Given the description of an element on the screen output the (x, y) to click on. 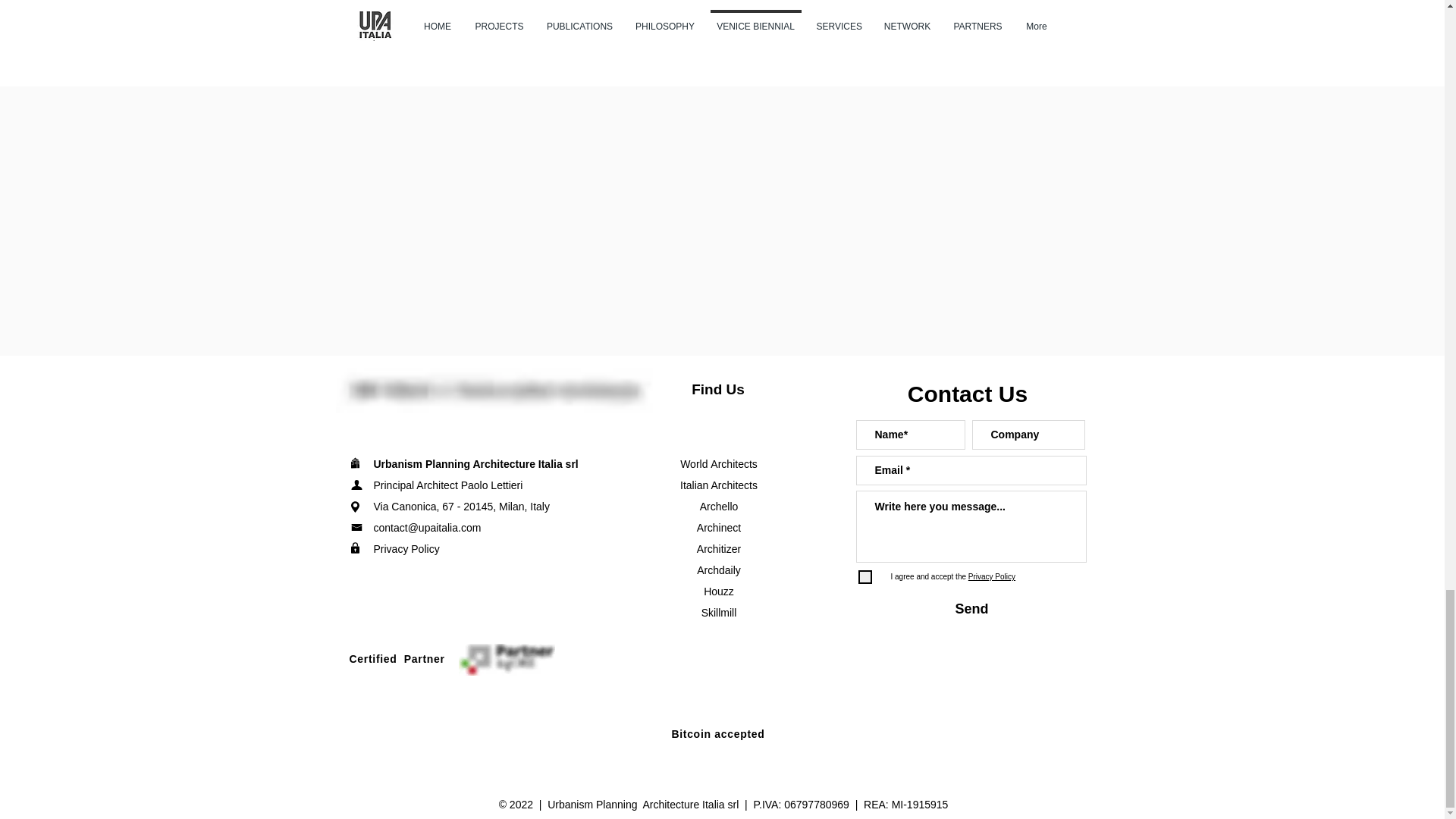
World Architects (718, 463)
Houzz (718, 591)
Italian Architects (718, 485)
Send (972, 609)
Privacy Policy (990, 576)
Privacy Policy (405, 548)
Skillmill (718, 612)
Archello (719, 506)
Archinect (719, 527)
Archdaily (719, 570)
Architizer (719, 548)
